Given the description of an element on the screen output the (x, y) to click on. 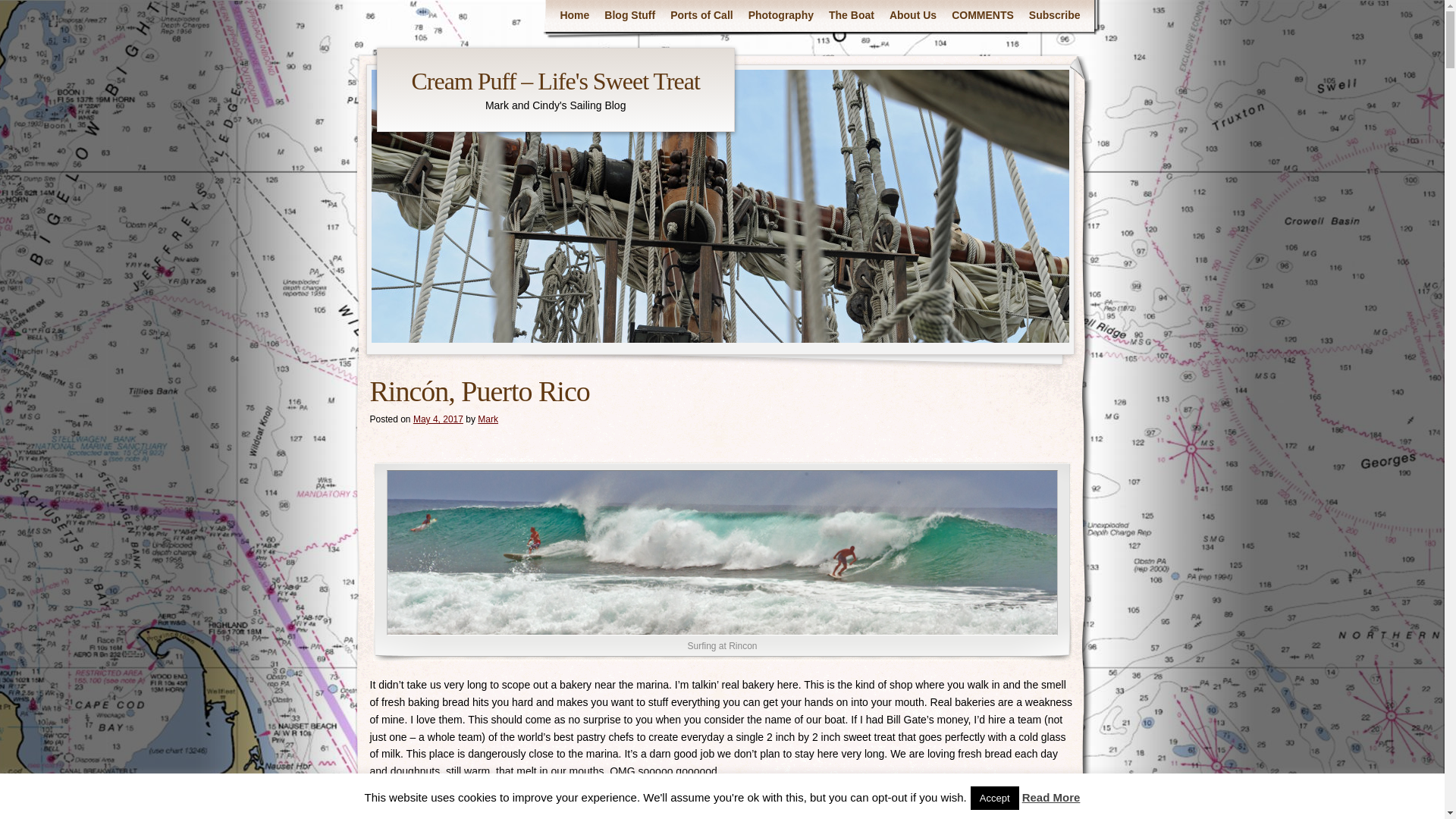
View all posts by Mark (487, 419)
Home (573, 15)
12:01 am (438, 419)
Blog Stuff (629, 15)
Ports of Call (700, 15)
